Given the description of an element on the screen output the (x, y) to click on. 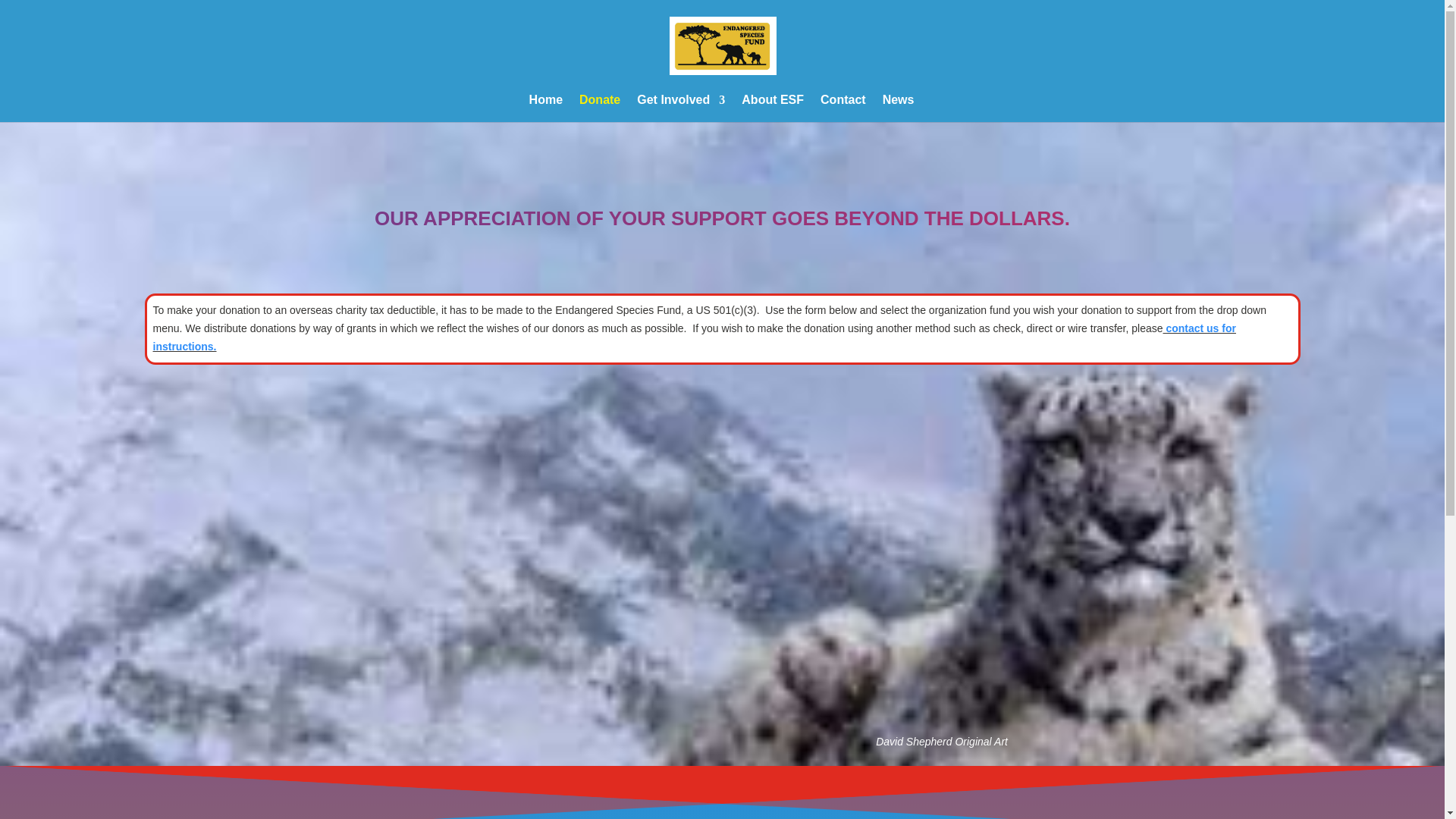
David Shepherd Original Art (941, 741)
News (898, 108)
About ESF (772, 108)
Get Involved (681, 108)
Donate (599, 108)
contact us for instructions. (694, 337)
iframe (722, 479)
Home (545, 108)
Contact (843, 108)
